Given the description of an element on the screen output the (x, y) to click on. 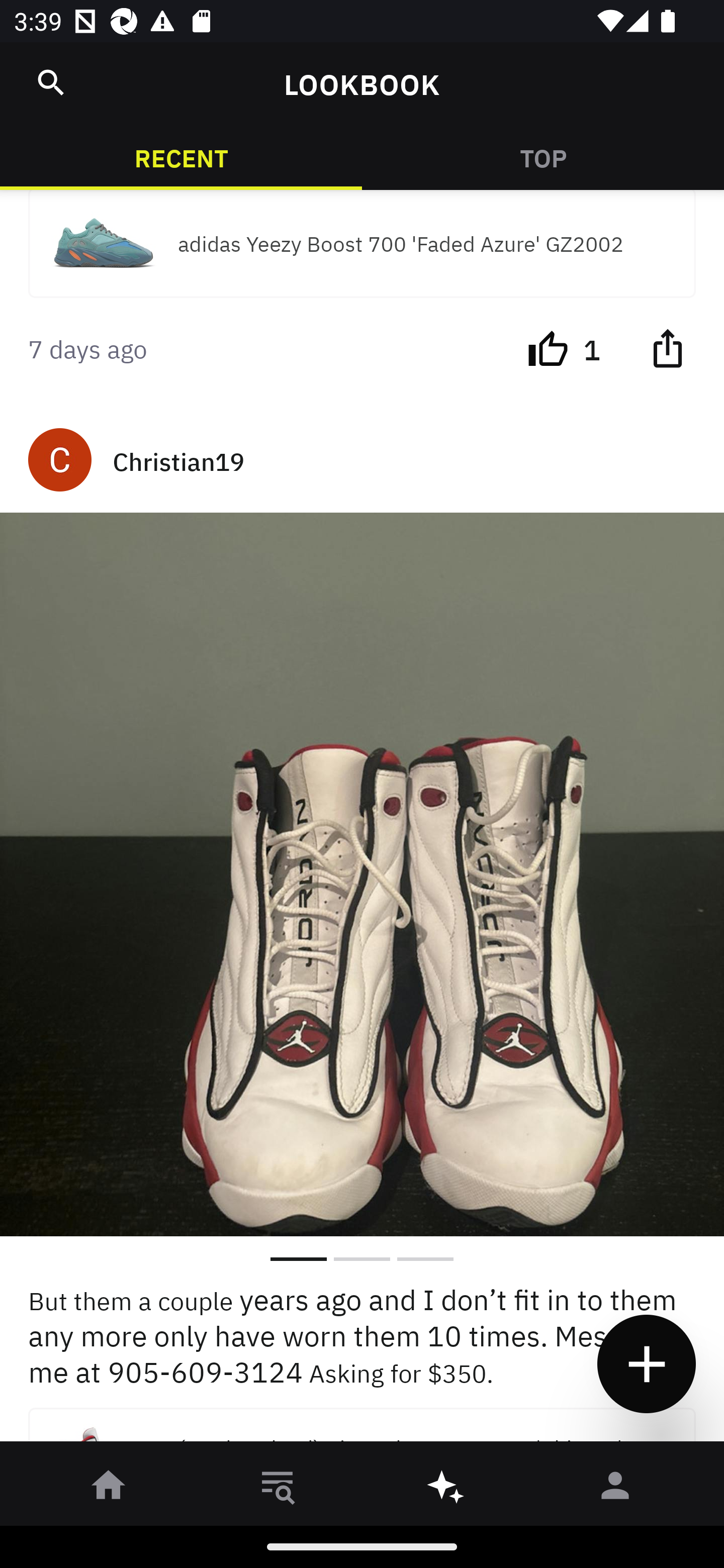
 (51, 82)
RECENT (181, 156)
TOP (543, 156)
adidas Yeezy Boost 700 'Faded Azure' GZ2002 (362, 243)
󰔔 (547, 347)
 (667, 347)
󰋜 (108, 1488)
󱎸 (277, 1488)
󰫢 (446, 1488)
󰀄 (615, 1488)
